Given the description of an element on the screen output the (x, y) to click on. 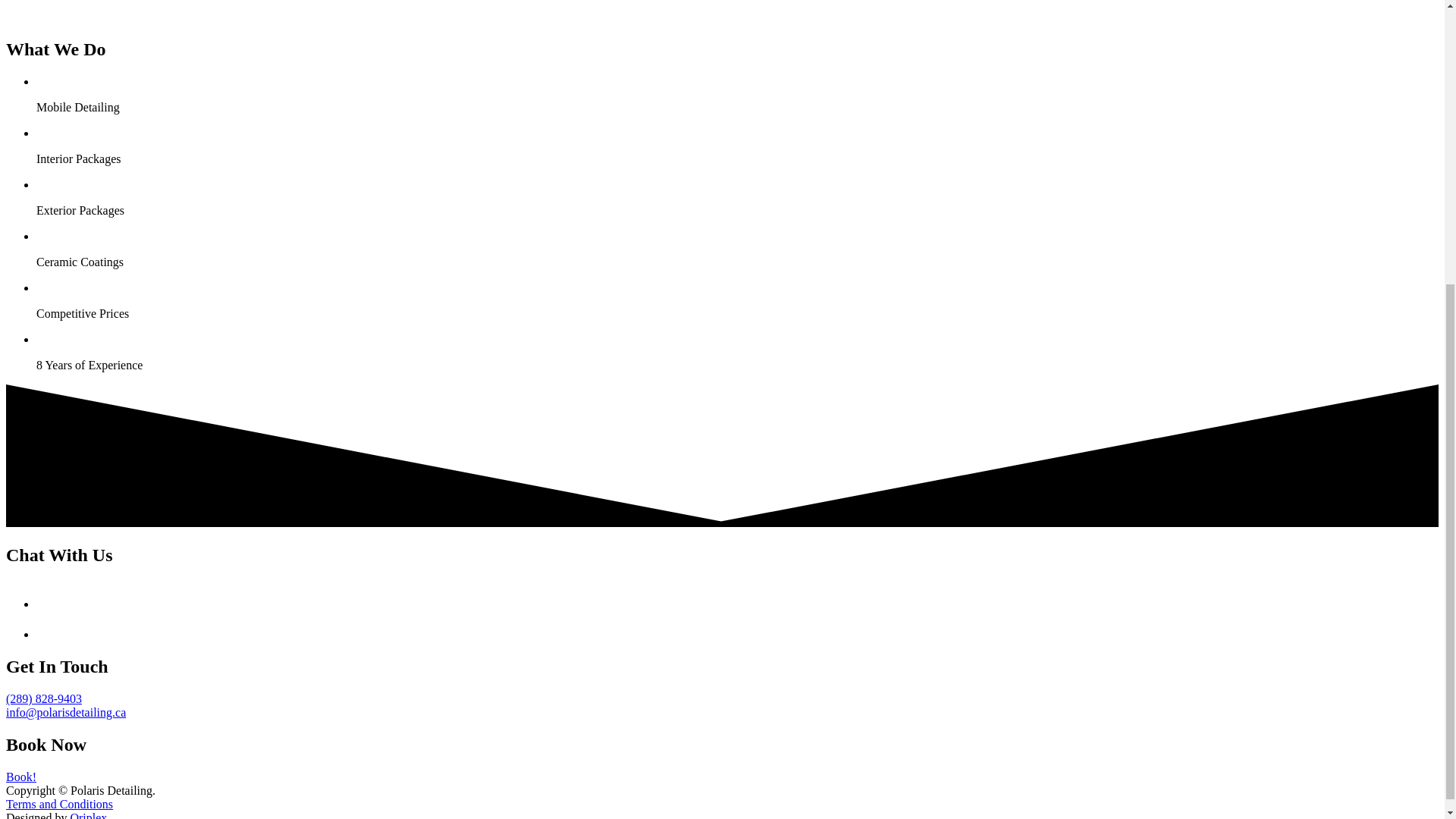
Book! (20, 776)
Terms and Conditions (59, 803)
